Given the description of an element on the screen output the (x, y) to click on. 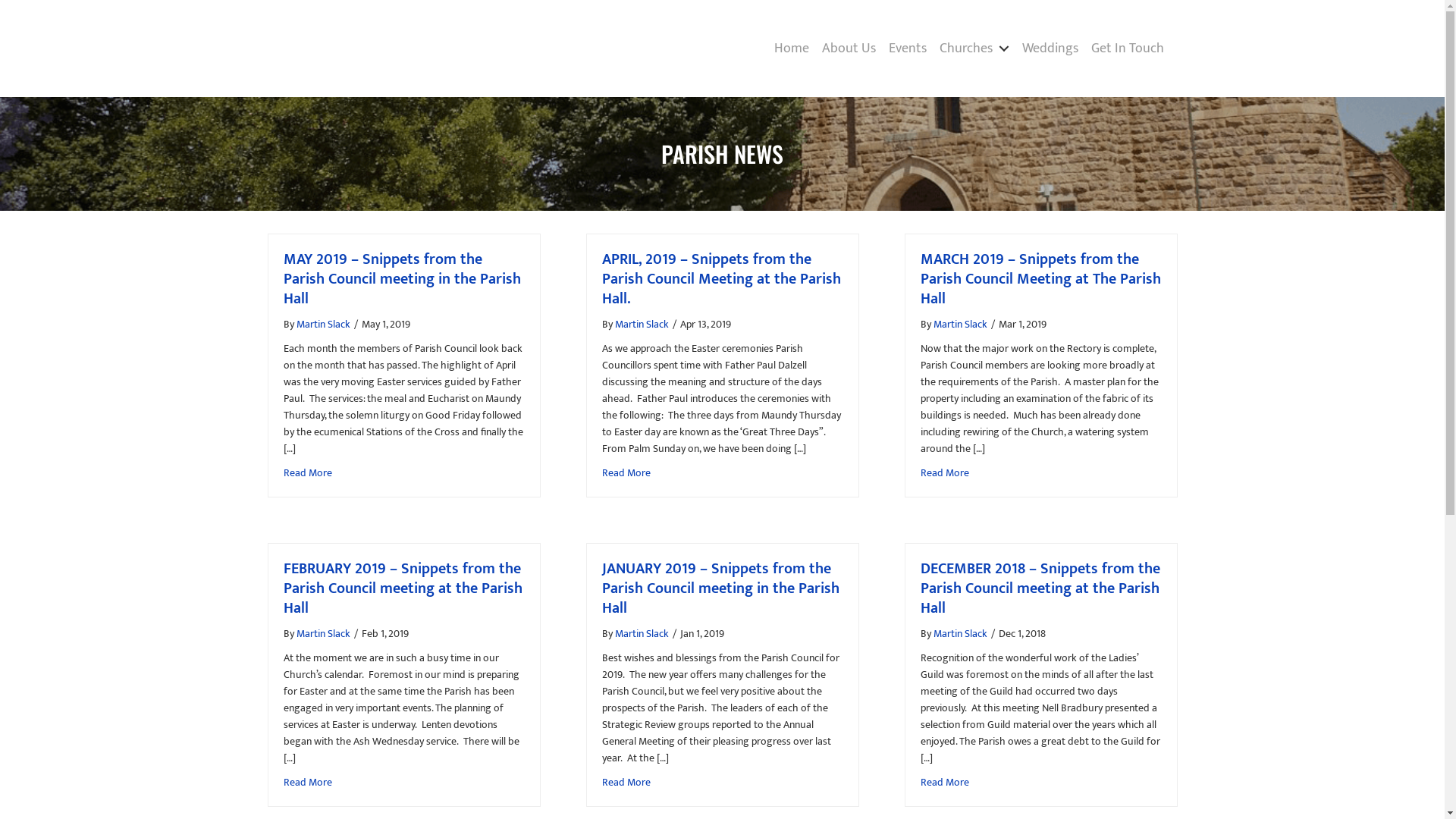
Weddings Element type: text (1050, 48)
Read More Element type: text (307, 472)
Get In Touch Element type: text (1126, 48)
Martin Slack Element type: text (322, 323)
Read More Element type: text (626, 782)
Skip to main content Element type: text (0, 0)
Read More Element type: text (307, 782)
Martin Slack Element type: text (959, 633)
Martin Slack Element type: text (322, 633)
Martin Slack Element type: text (641, 633)
Read More Element type: text (944, 472)
Churches Element type: text (973, 48)
Martin Slack Element type: text (959, 323)
Martin Slack Element type: text (641, 323)
About Us Element type: text (848, 48)
Read More Element type: text (944, 782)
Home Element type: text (790, 48)
Read More Element type: text (626, 472)
Events Element type: text (907, 48)
